Given the description of an element on the screen output the (x, y) to click on. 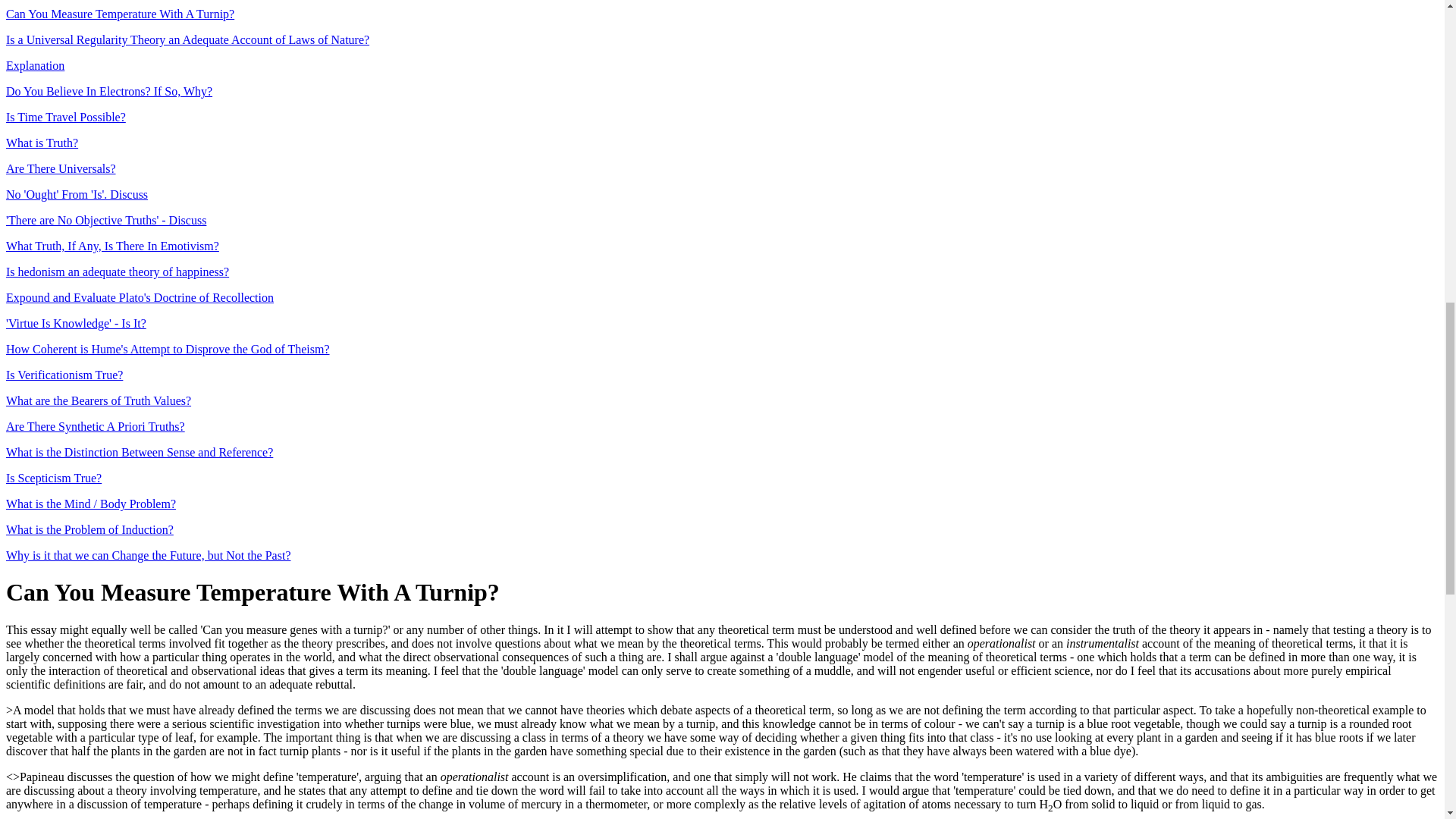
Explanation (34, 65)
Is Time Travel Possible? (65, 116)
Can You Measure Temperature With A Turnip? (119, 13)
What is Truth? (41, 142)
Do You Believe In Electrons? If So, Why? (108, 91)
